Given the description of an element on the screen output the (x, y) to click on. 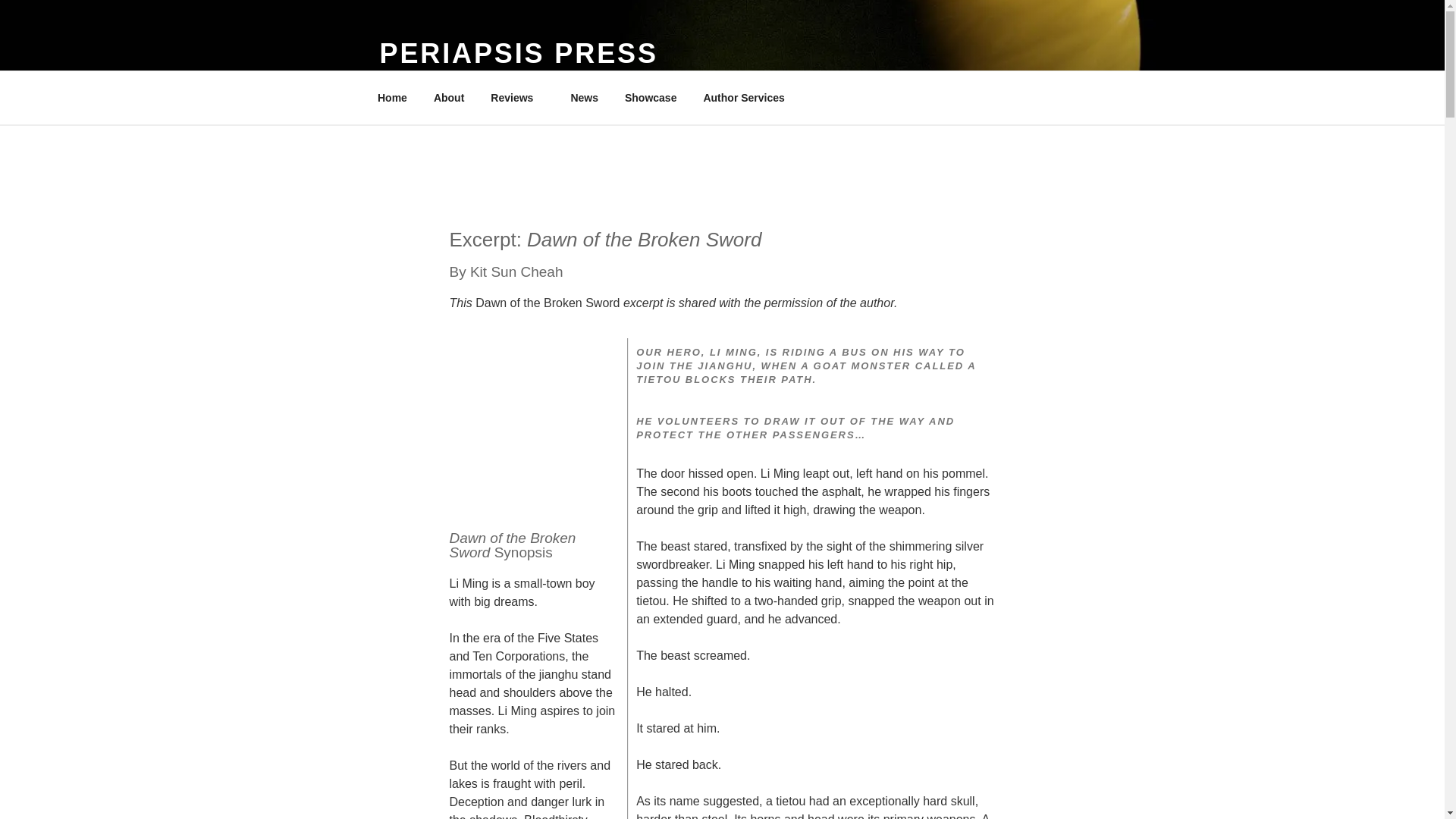
News (584, 97)
PERIAPSIS PRESS (518, 52)
Reviews (517, 97)
About (448, 97)
Showcase (649, 97)
Home (392, 97)
Author Services (743, 97)
